Given the description of an element on the screen output the (x, y) to click on. 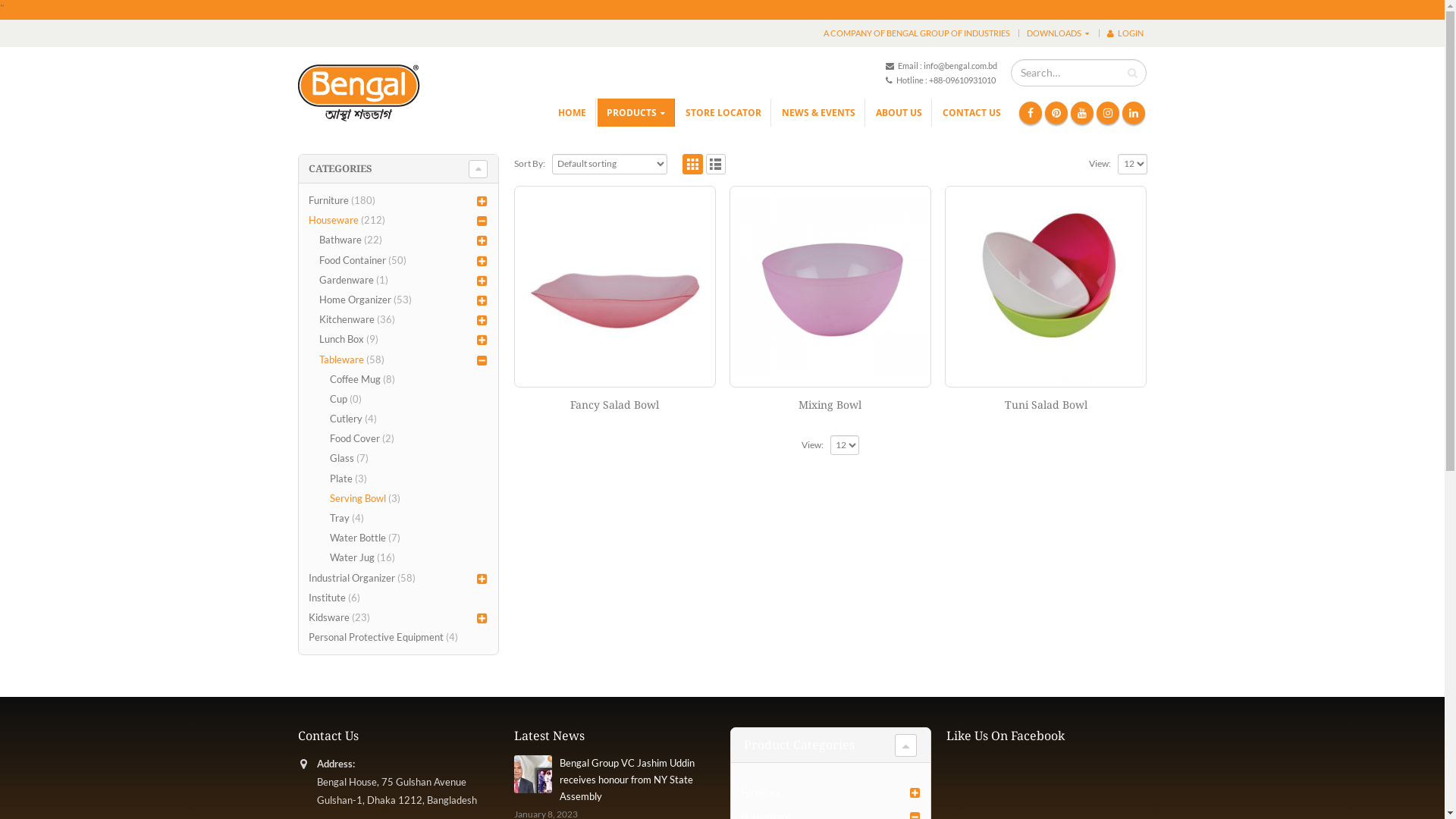
Houseware Element type: text (333, 219)
Facebook Element type: hover (1030, 112)
Furniture Element type: text (328, 200)
Serving Bowl Element type: text (357, 498)
Grid View Element type: hover (692, 163)
A COMPANY OF BENGAL GROUP OF INDUSTRIES Element type: text (916, 33)
Industrial Organizer Element type: text (351, 577)
ABOUT US Element type: text (898, 112)
Personal Protective Equipment Element type: text (375, 636)
Kitchenware Element type: text (346, 319)
Tray Element type: text (339, 517)
Coffee Mug Element type: text (354, 379)
NEWS & EVENTS Element type: text (818, 112)
Cutlery Element type: text (345, 418)
STORE LOCATOR Element type: text (723, 112)
Youtube Element type: hover (1081, 112)
CONTACT US Element type: text (971, 112)
Water Bottle Element type: text (357, 537)
Home Organizer Element type: text (355, 299)
Cup Element type: text (338, 398)
List View Element type: hover (716, 163)
Kidsware Element type: text (328, 617)
Bathware Element type: text (340, 239)
Food Container Element type: text (352, 259)
Search Element type: hover (1132, 72)
LinkedIn Element type: hover (1133, 112)
Institute Element type: text (326, 597)
DOWNLOADS Element type: text (1057, 33)
Glass Element type: text (341, 457)
Tableware Element type: text (341, 359)
Instagram Element type: hover (1107, 112)
Tuni Salad Bowl Element type: text (1045, 405)
Plate Element type: text (340, 478)
Water Jug Element type: text (351, 557)
Mixing Bowl Element type: text (830, 405)
Pinterest Element type: hover (1055, 112)
Food Cover Element type: text (354, 438)
HOME Element type: text (572, 112)
Lunch Box Element type: text (341, 338)
PRODUCTS Element type: text (635, 112)
Bengal - Decorate your home with us! Element type: hover (358, 92)
Fancy Salad Bowl Element type: text (614, 405)
LOGIN Element type: text (1124, 33)
Gardenware Element type: text (346, 279)
Furniture Element type: text (760, 793)
